Given the description of an element on the screen output the (x, y) to click on. 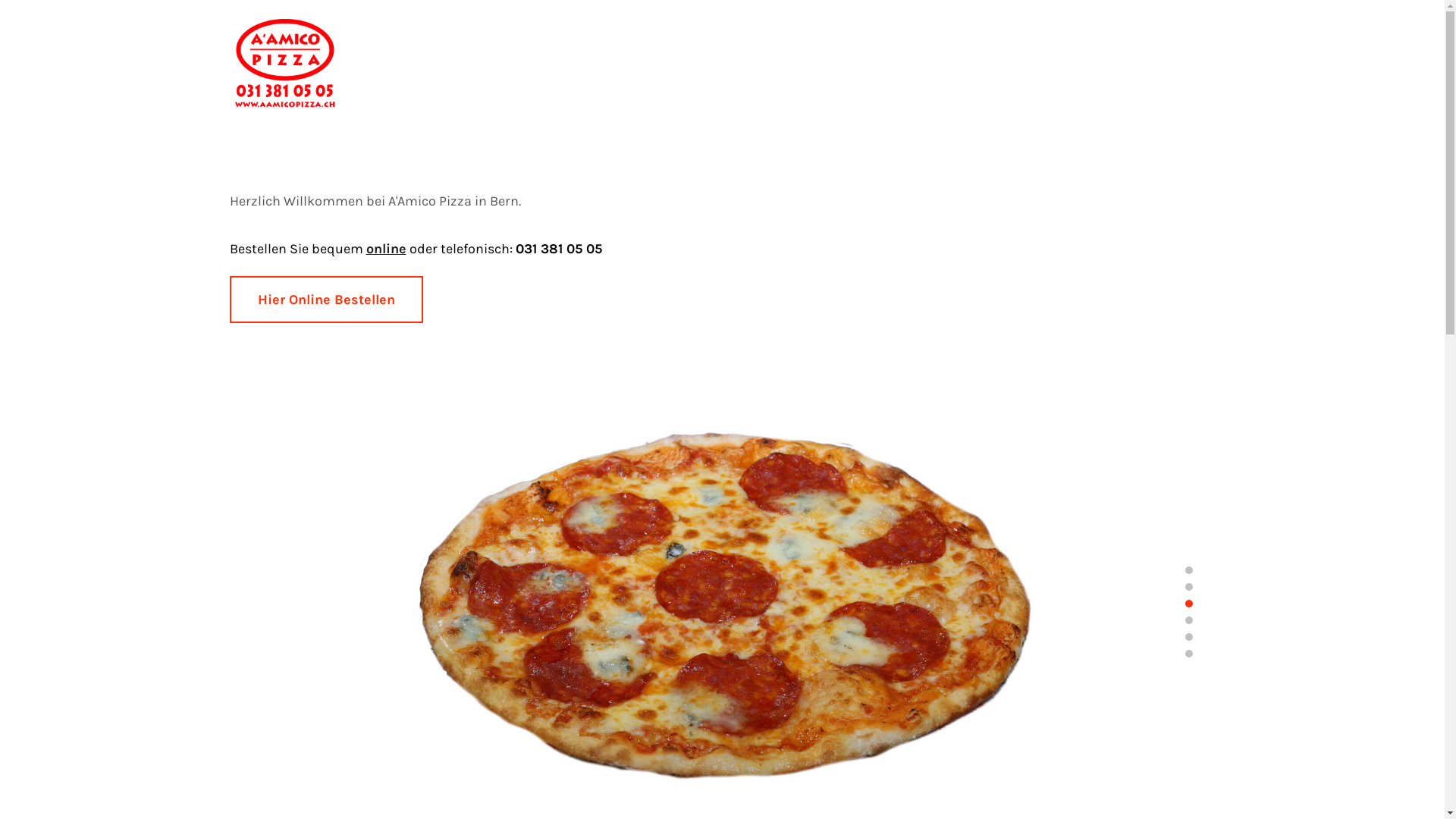
Hier Online Bestellen Element type: text (325, 299)
4 Element type: text (1188, 620)
1 Element type: text (1188, 570)
online Element type: text (385, 248)
5 Element type: text (1188, 636)
3 Element type: text (1188, 603)
6 Element type: text (1188, 653)
2 Element type: text (1188, 586)
